Given the description of an element on the screen output the (x, y) to click on. 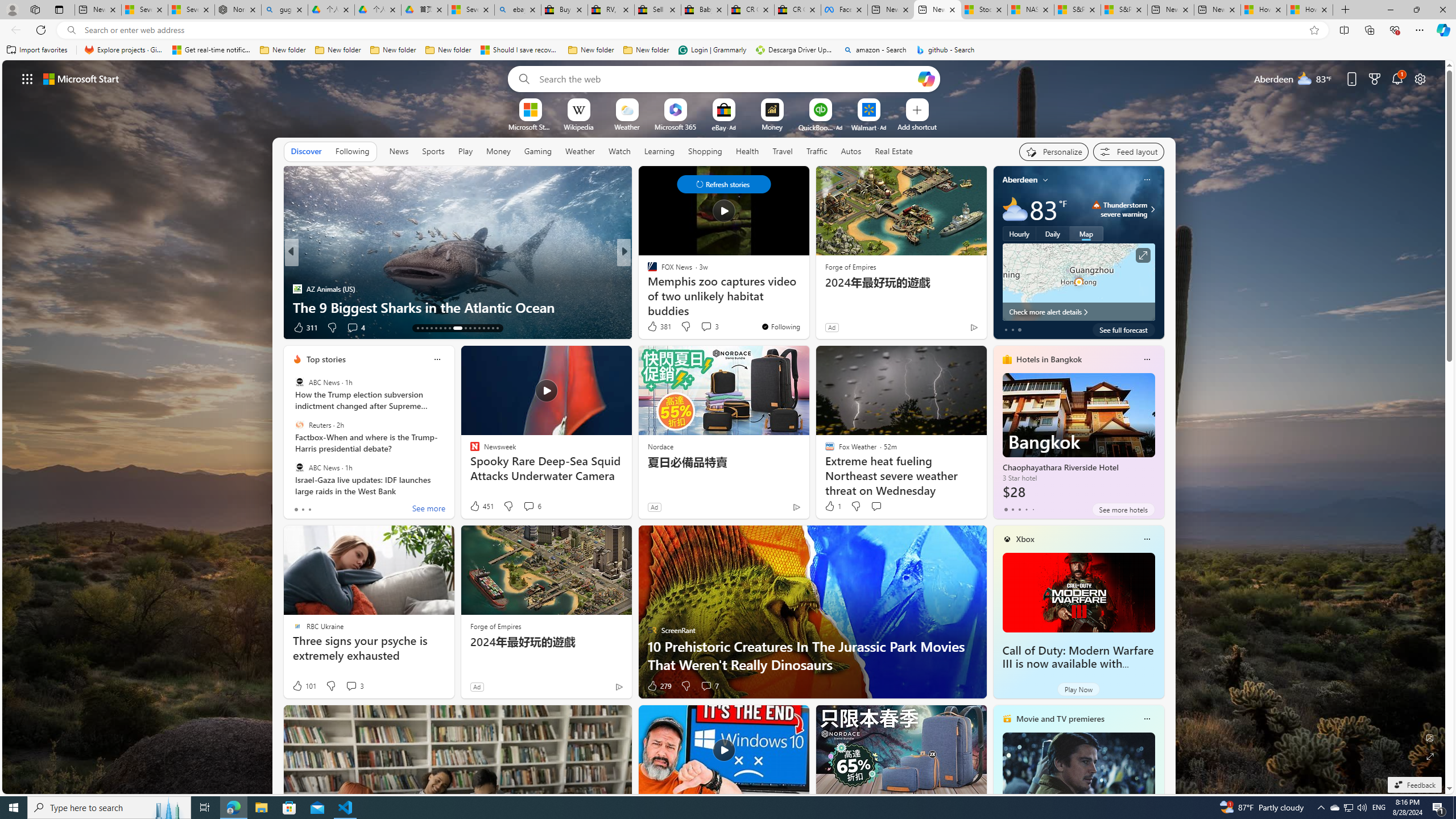
AutomationID: tab-19 (444, 328)
AutomationID: tab-23 (470, 328)
Health (746, 151)
View comments 3 Comment (354, 685)
43 Like (652, 327)
CNN (647, 270)
Personalize your feed" (1054, 151)
How to Start Strength Training If You've Never Done It (807, 298)
My location (1045, 179)
View comments 7 Comment (705, 685)
Travel (782, 151)
3 Like (651, 327)
tab-4 (1032, 509)
Larger map  (1077, 282)
